Given the description of an element on the screen output the (x, y) to click on. 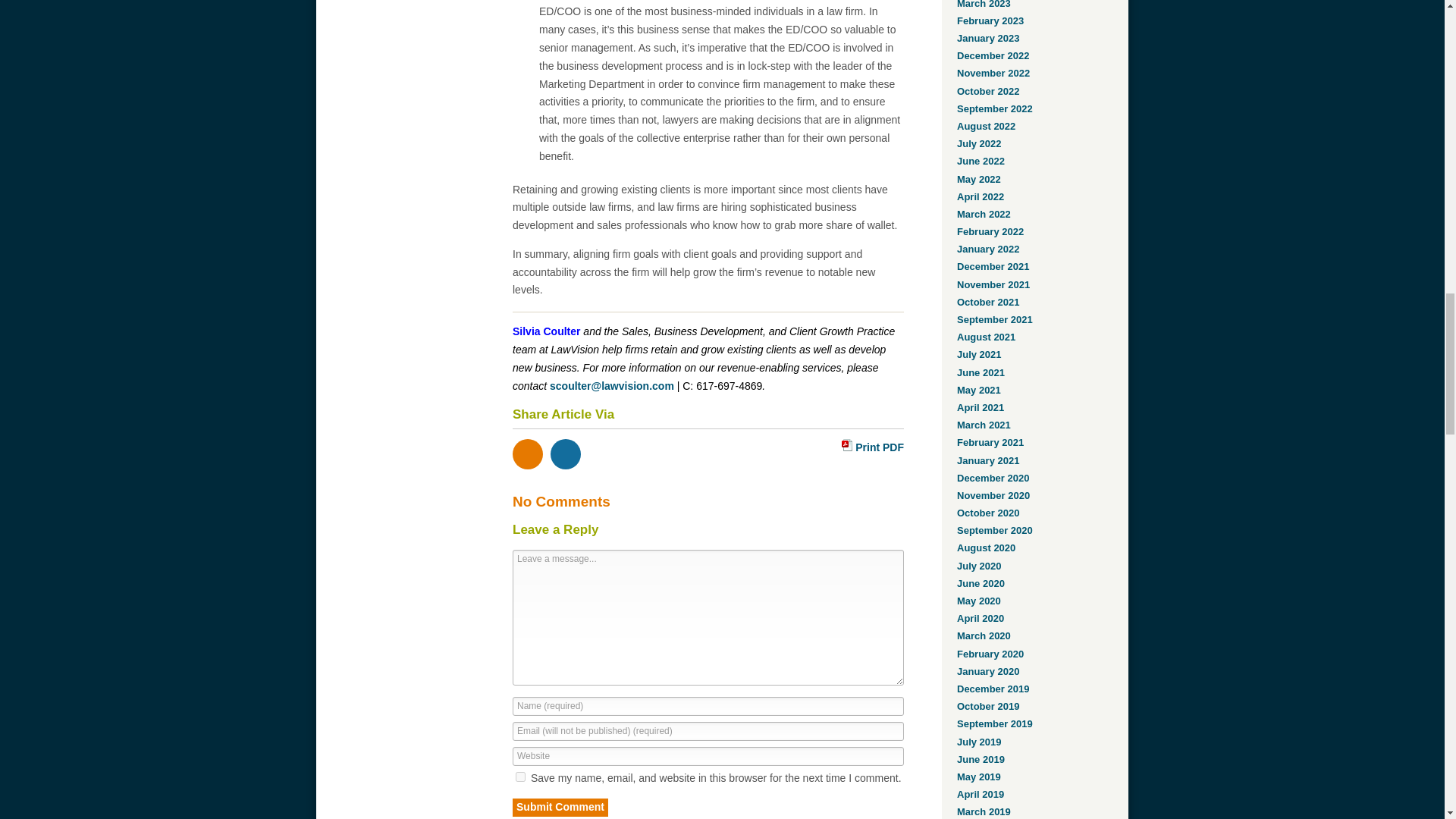
Share on LinkedIn (565, 453)
yes (520, 777)
Share by Email (527, 453)
Submit Comment (560, 807)
